Given the description of an element on the screen output the (x, y) to click on. 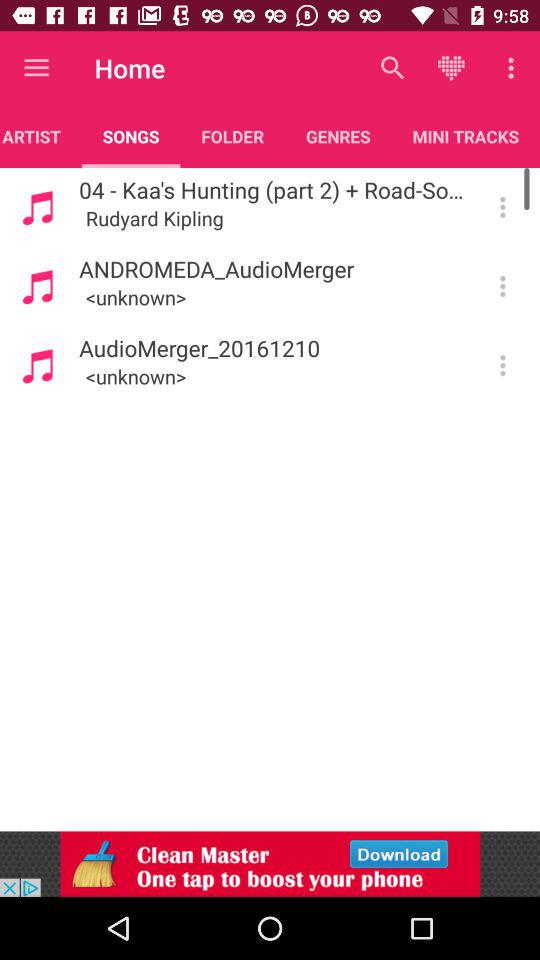
song details (502, 365)
